Given the description of an element on the screen output the (x, y) to click on. 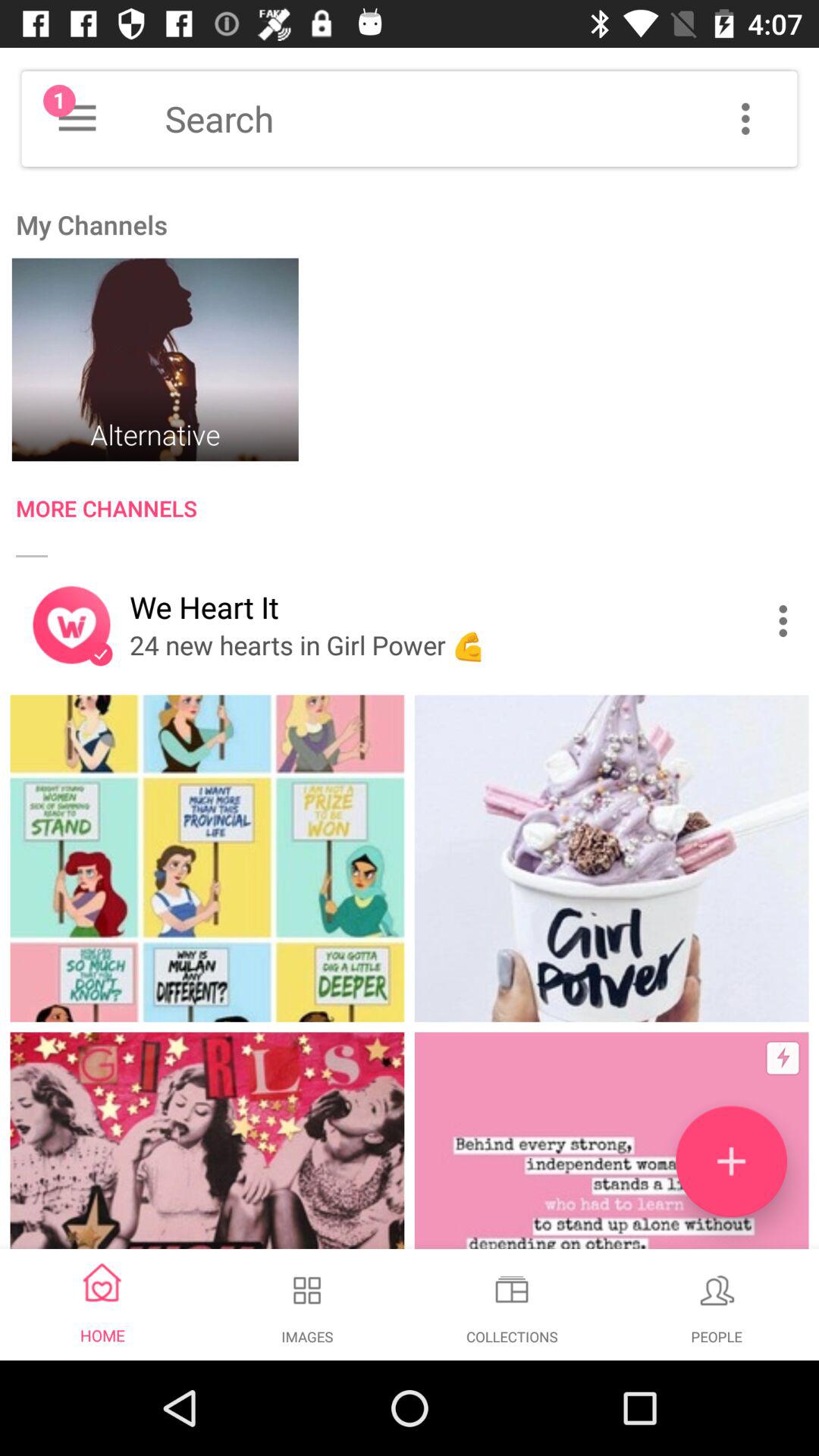
jump until more channels (417, 512)
